Given the description of an element on the screen output the (x, y) to click on. 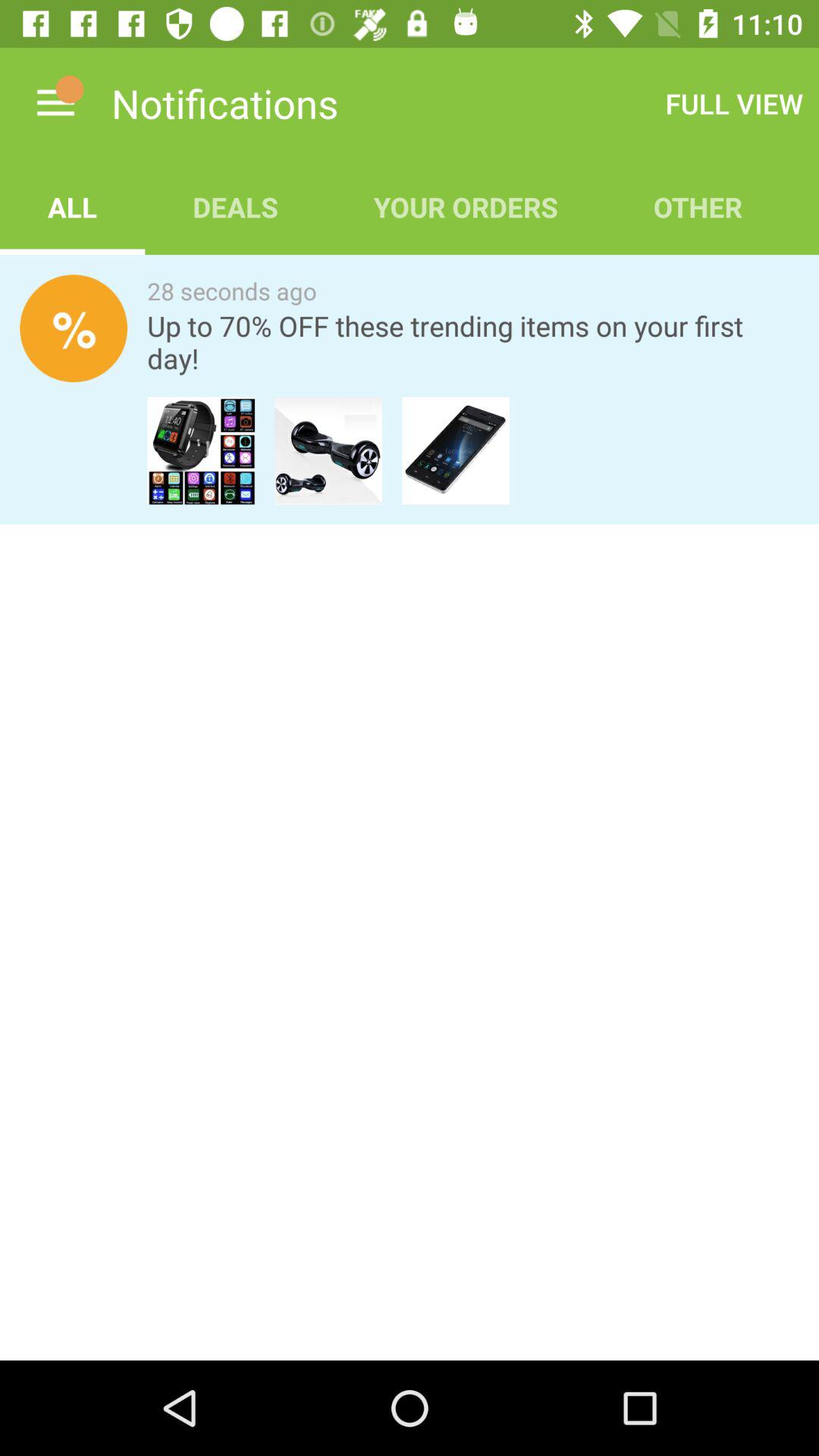
press the item next to your orders item (734, 103)
